Given the description of an element on the screen output the (x, y) to click on. 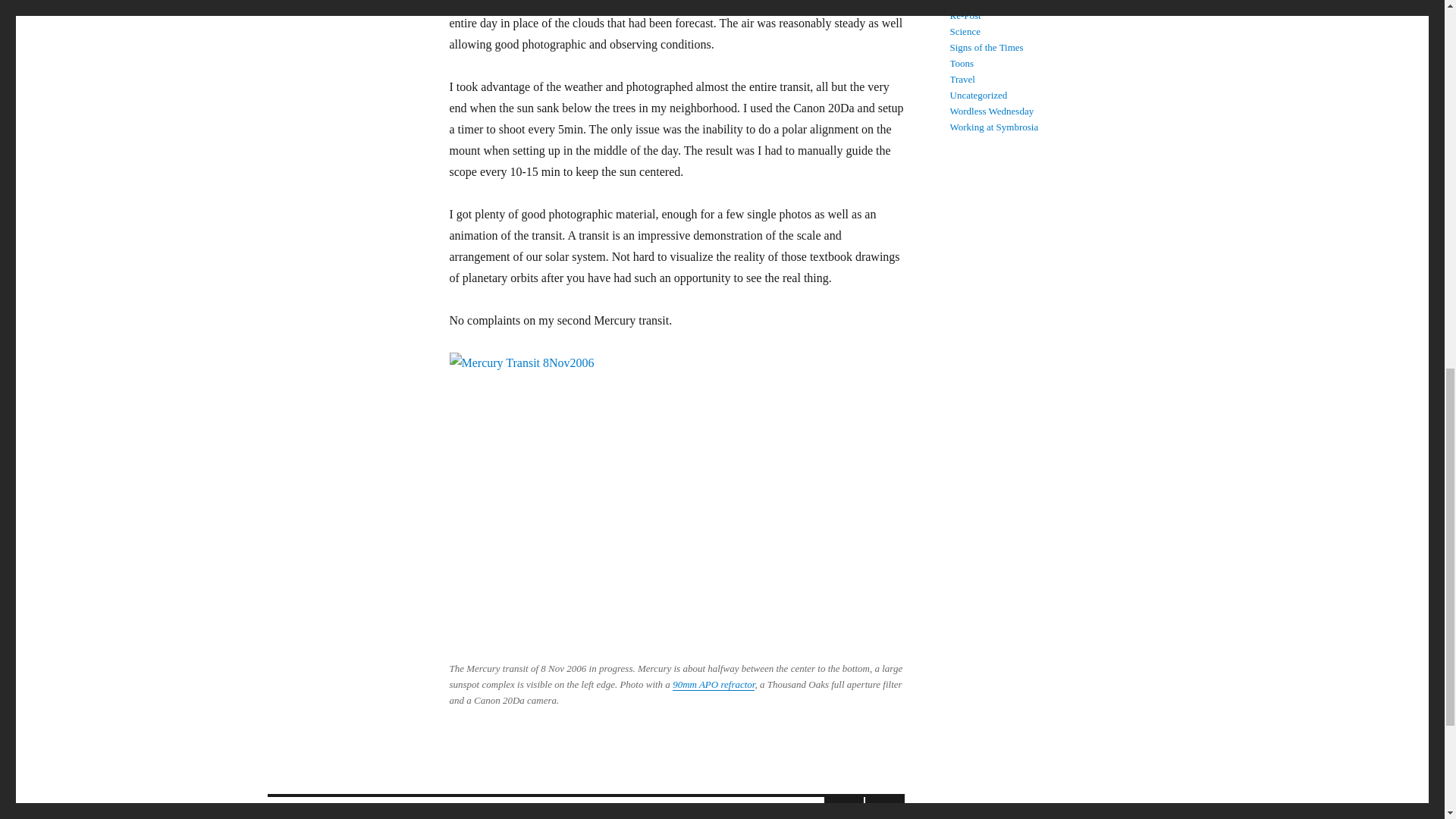
90mm APO refractor (713, 684)
PREVIOUS PAGE (344, 807)
